Given the description of an element on the screen output the (x, y) to click on. 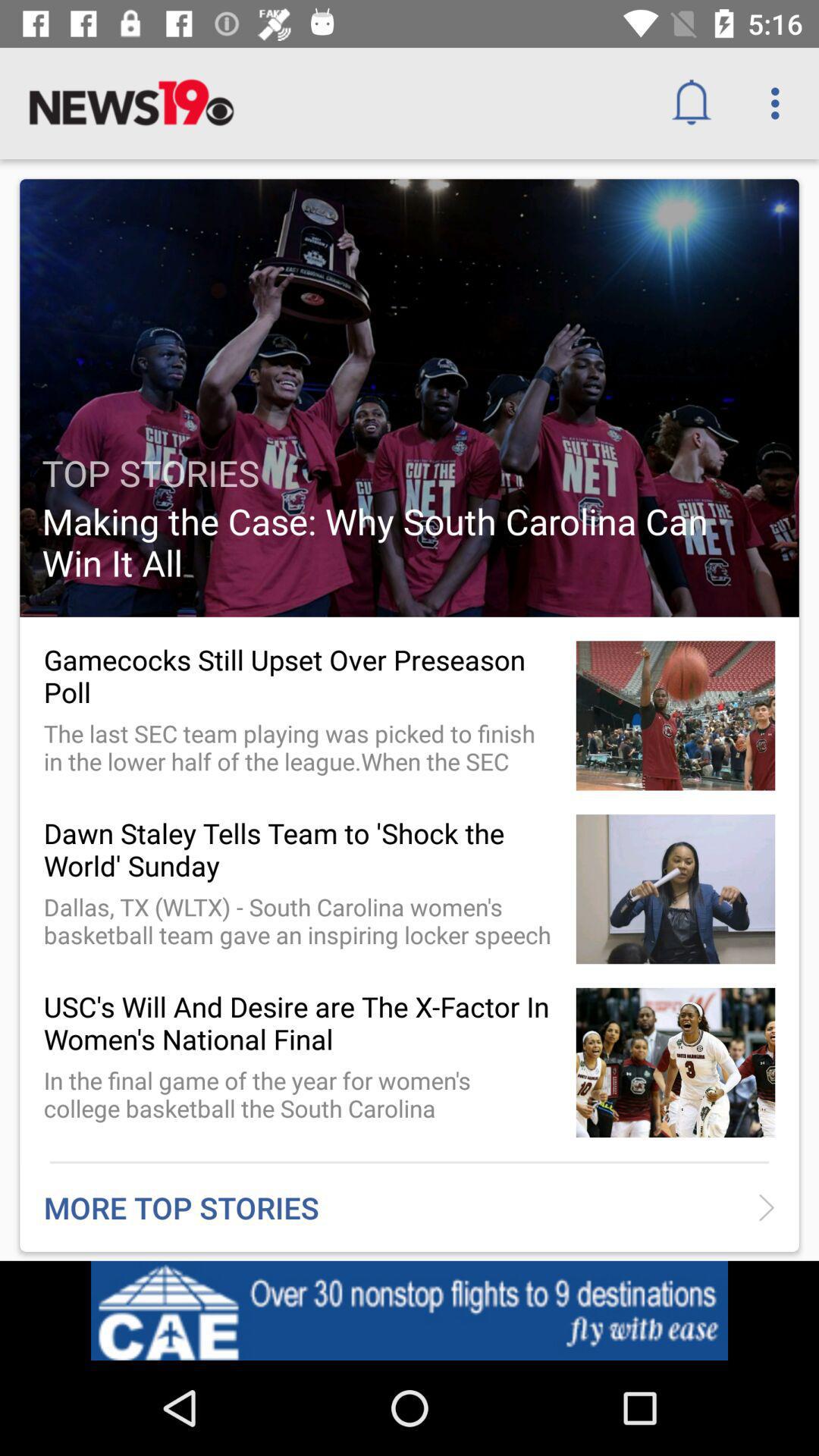
tap the item below the more top stories icon (696, 1315)
